Given the description of an element on the screen output the (x, y) to click on. 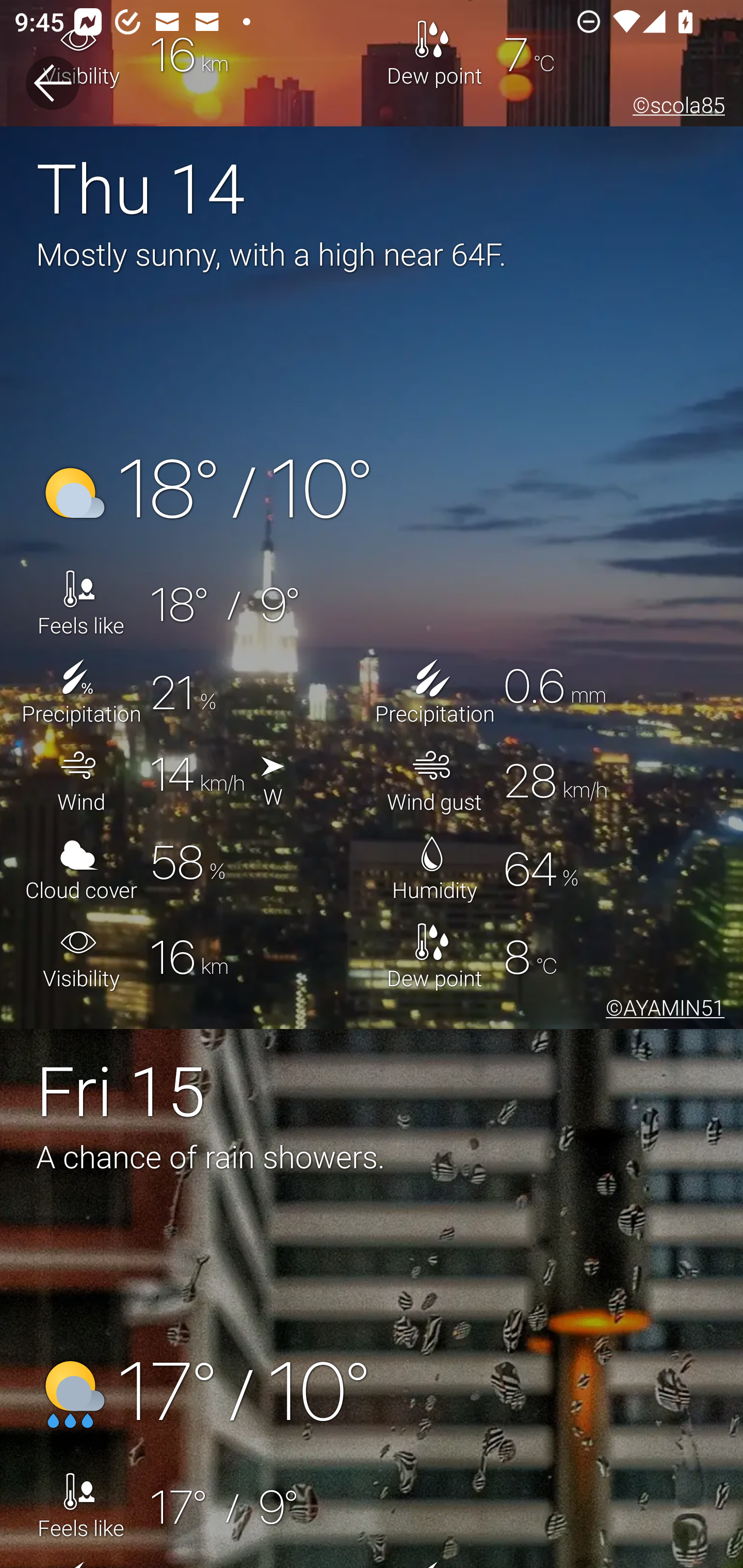
©scola85 (675, 108)
©AYAMIN51 (661, 1010)
